Given the description of an element on the screen output the (x, y) to click on. 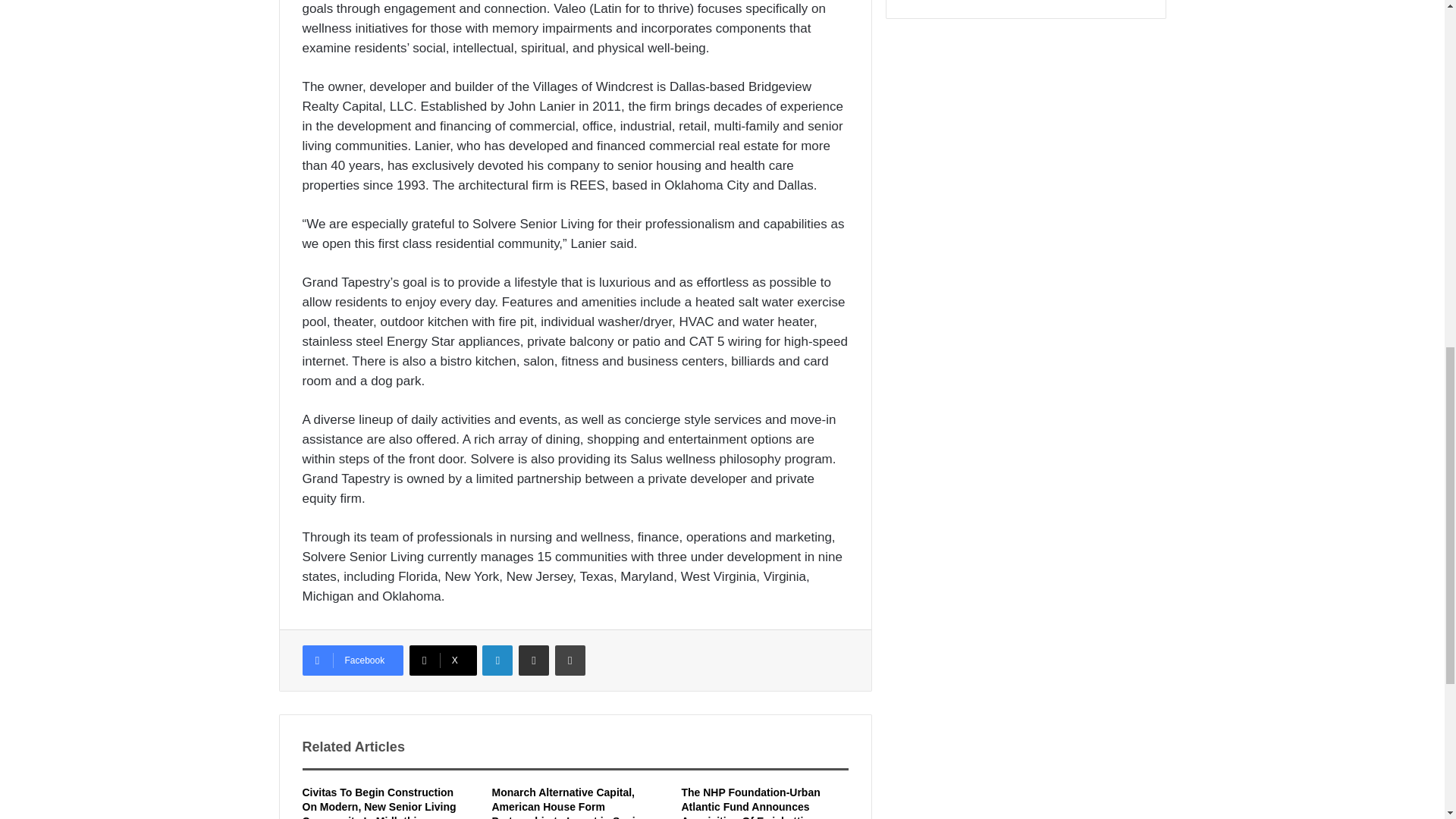
Facebook (352, 660)
Print (569, 660)
Share via Email (533, 660)
X (443, 660)
Share via Email (533, 660)
Print (569, 660)
X (443, 660)
Back to top button (1413, 60)
